Given the description of an element on the screen output the (x, y) to click on. 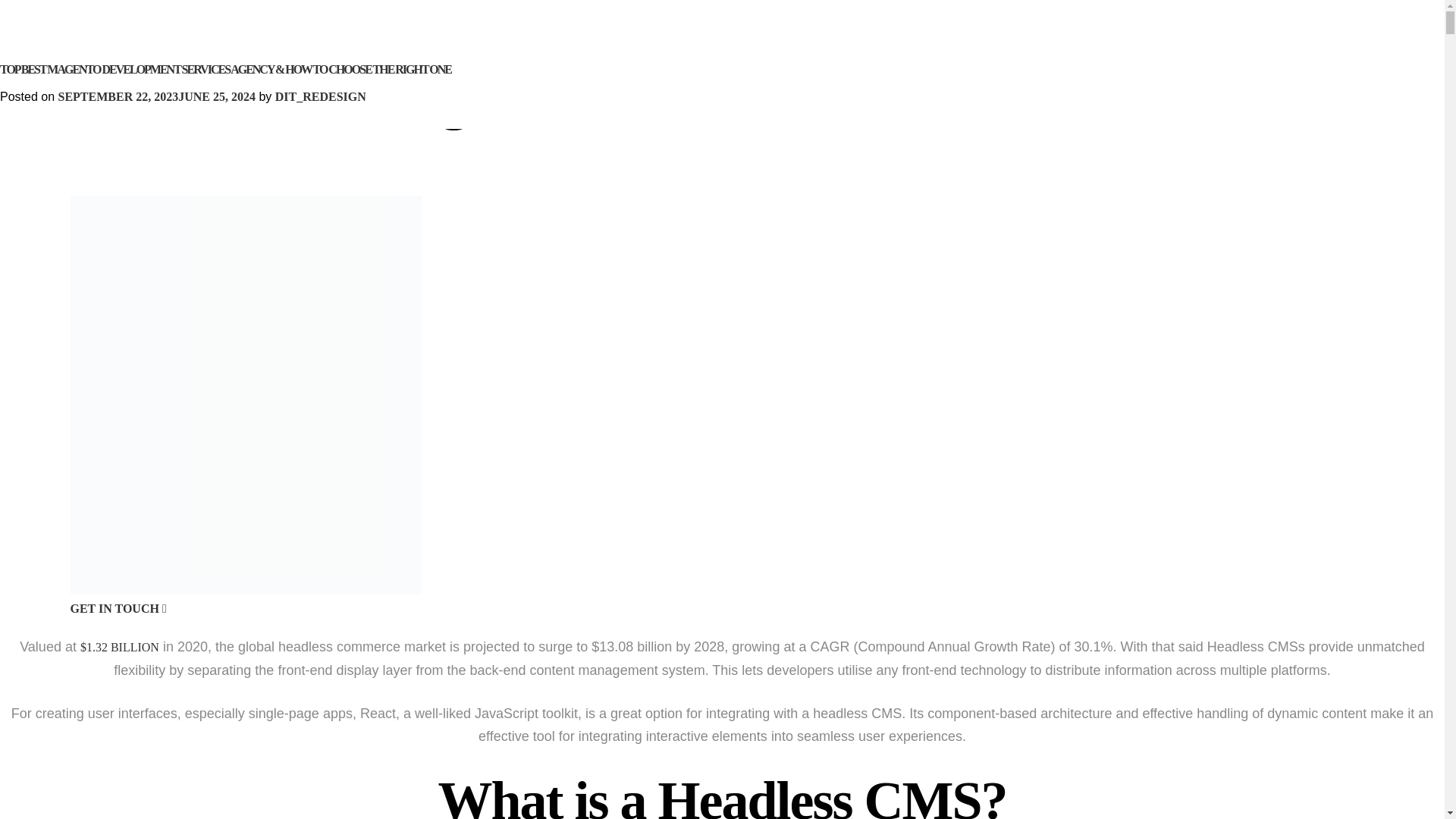
JUNE 3, 2024JUNE 18, 2024 (132, 96)
BIGCOMMERCE (799, 118)
BLOG (1356, 82)
SERVICES (607, 82)
CAREERS (1257, 82)
MAGENTO (934, 118)
REACT JS (575, 127)
MOBILE APP (529, 127)
DESIGN (488, 100)
DEVELOPMENT (652, 100)
